Given the description of an element on the screen output the (x, y) to click on. 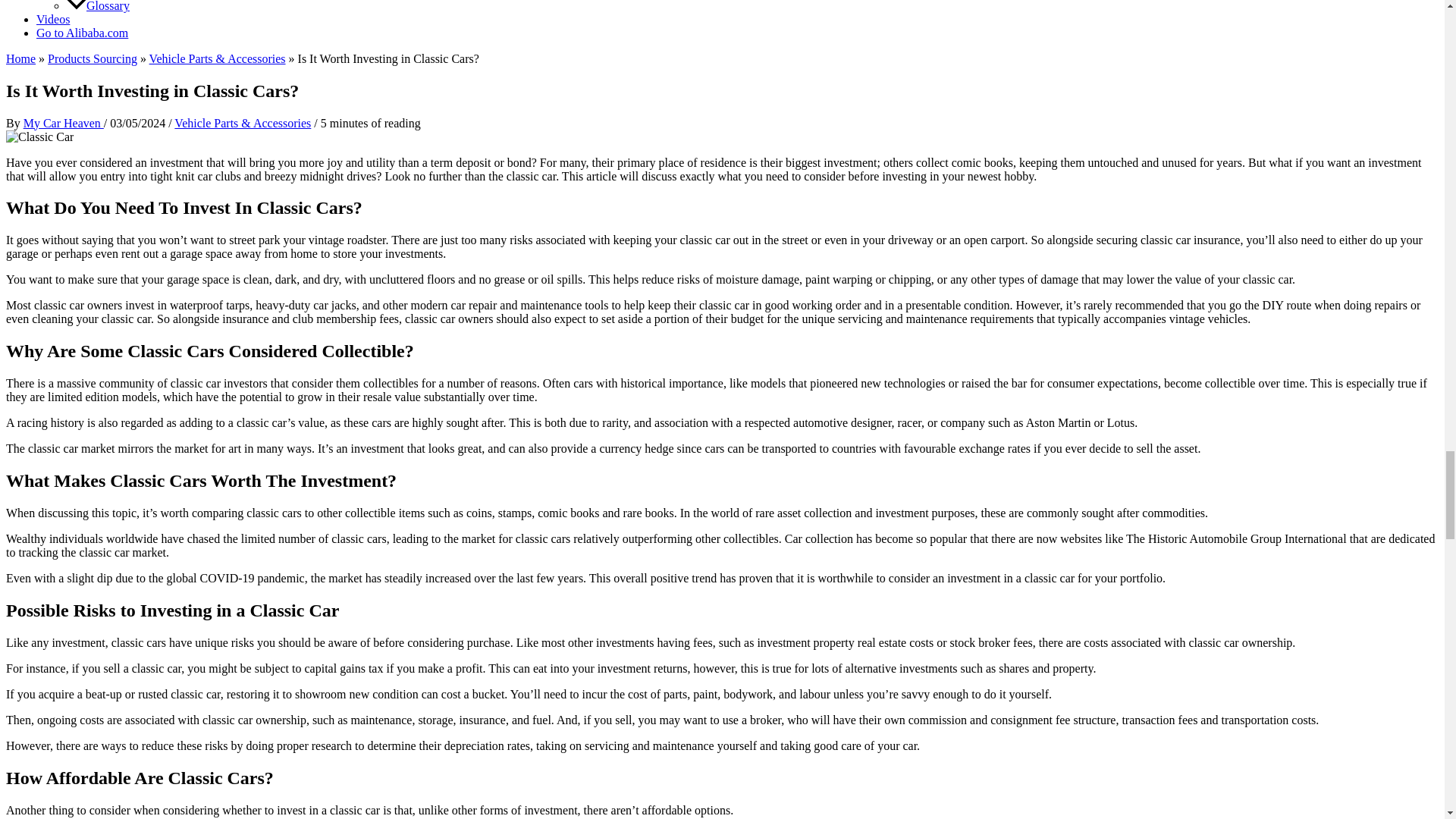
View all posts by My Car Heaven (63, 123)
